Given the description of an element on the screen output the (x, y) to click on. 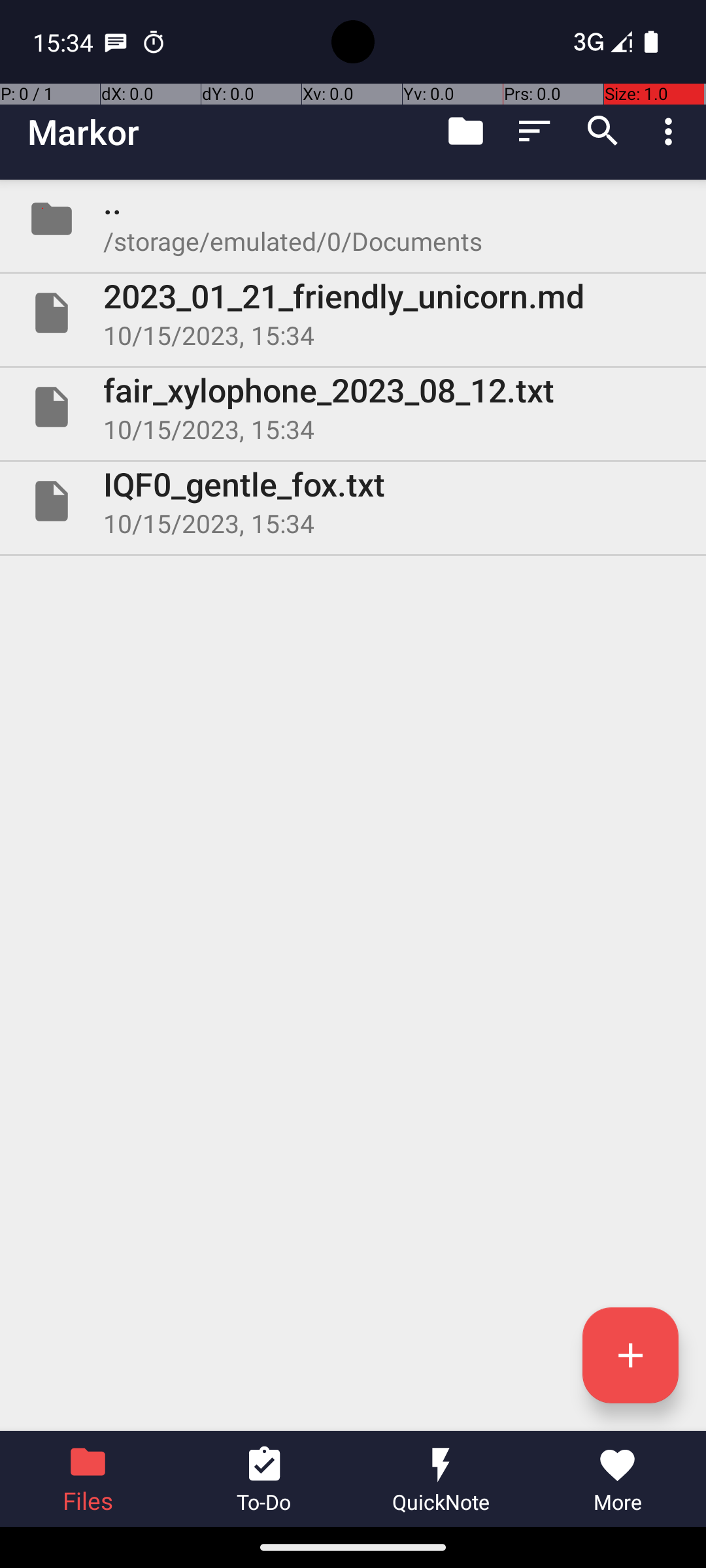
File 2023_01_21_friendly_unicorn.md  Element type: android.widget.LinearLayout (353, 312)
File fair_xylophone_2023_08_12.txt  Element type: android.widget.LinearLayout (353, 406)
File IQF0_gentle_fox.txt  Element type: android.widget.LinearLayout (353, 500)
